Given the description of an element on the screen output the (x, y) to click on. 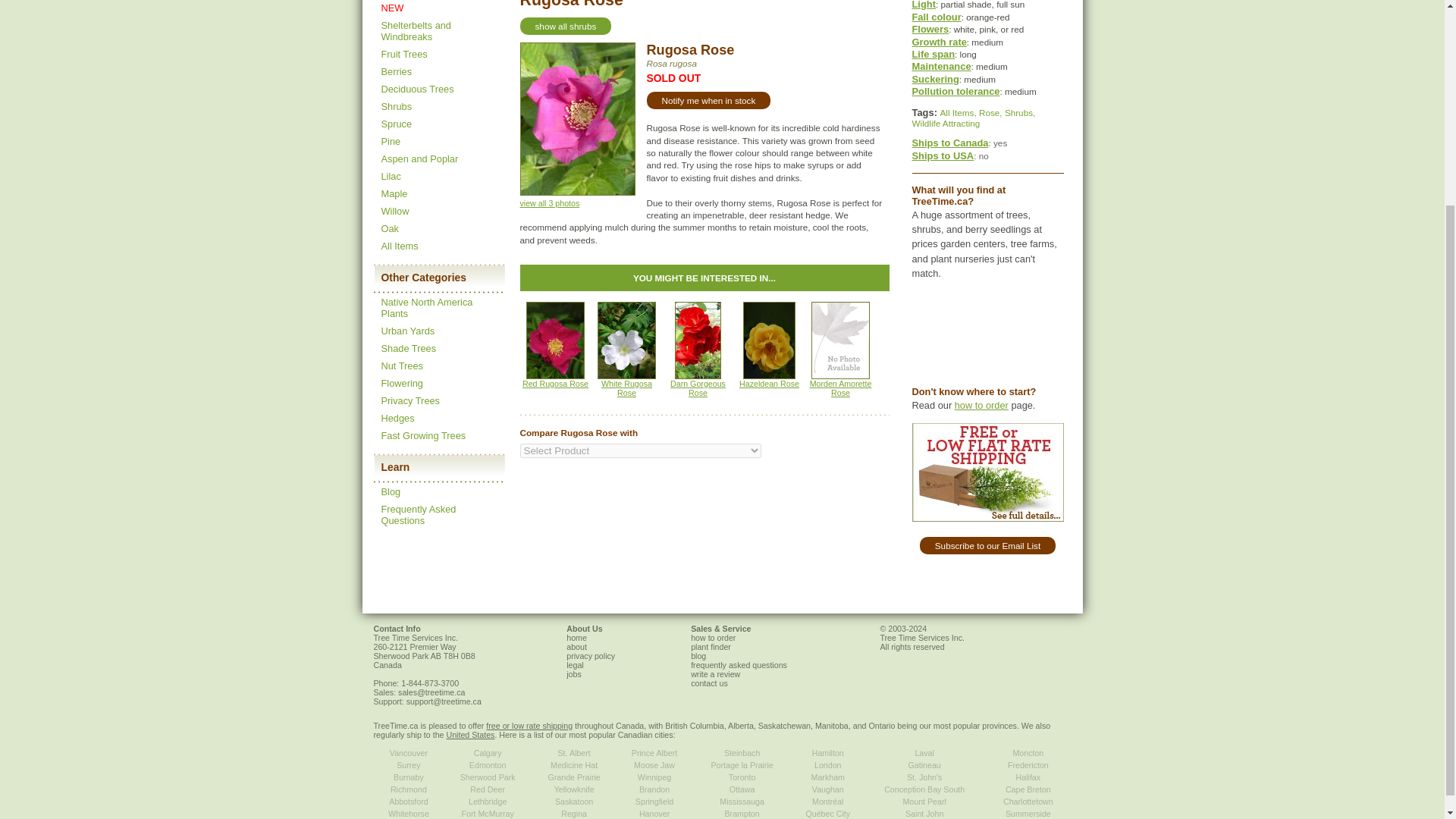
Berries (396, 71)
Maple (393, 193)
Privacy Trees (409, 400)
Deciduous Trees (416, 89)
NEW (391, 7)
Aspen and Poplar (419, 158)
Lilac (390, 175)
Oak (388, 228)
Shade Trees (407, 348)
Urban Yards (406, 330)
